Given the description of an element on the screen output the (x, y) to click on. 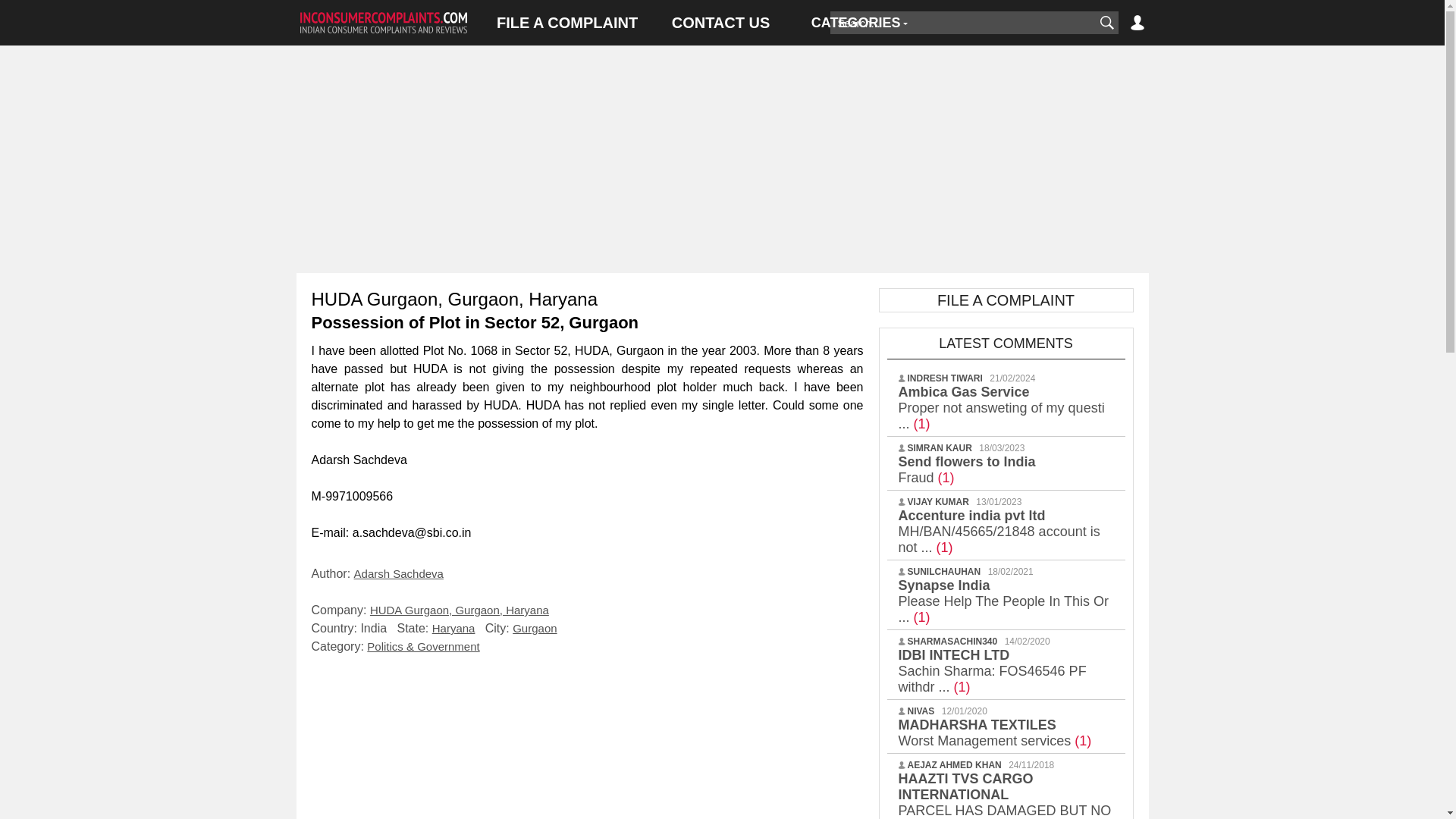
Search... (961, 22)
FILE A COMPLAINT (566, 22)
Find (1106, 22)
Send flowers to India - Fraud (966, 469)
Advertisement (587, 741)
Ambica Gas Service - Proper not answeting of my question (1000, 407)
CONTACT US (721, 22)
Synapse India - Please Help The People In This Organisation (1003, 601)
Search... (961, 22)
MADHARSHA TEXTILES - Worst Management services (994, 732)
